Given the description of an element on the screen output the (x, y) to click on. 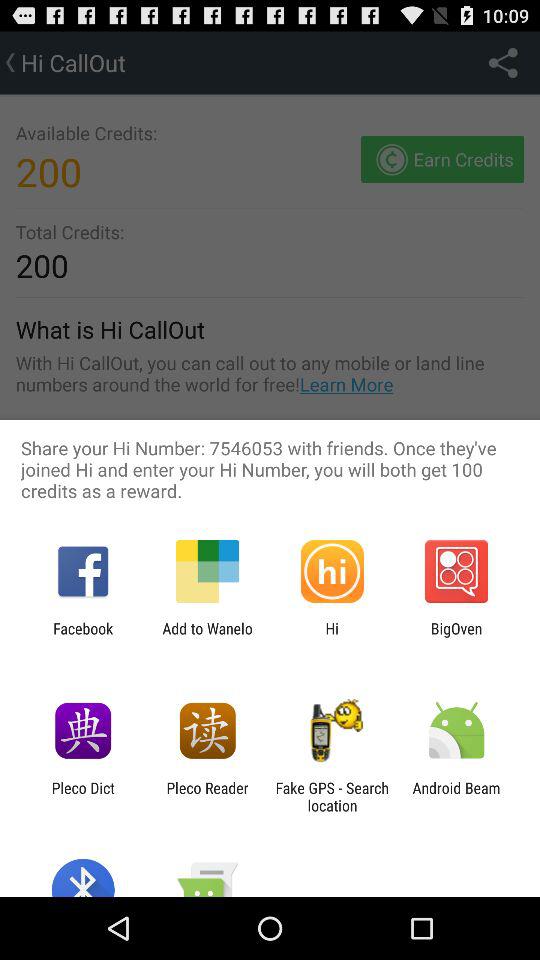
open the app to the right of pleco dict (207, 796)
